Given the description of an element on the screen output the (x, y) to click on. 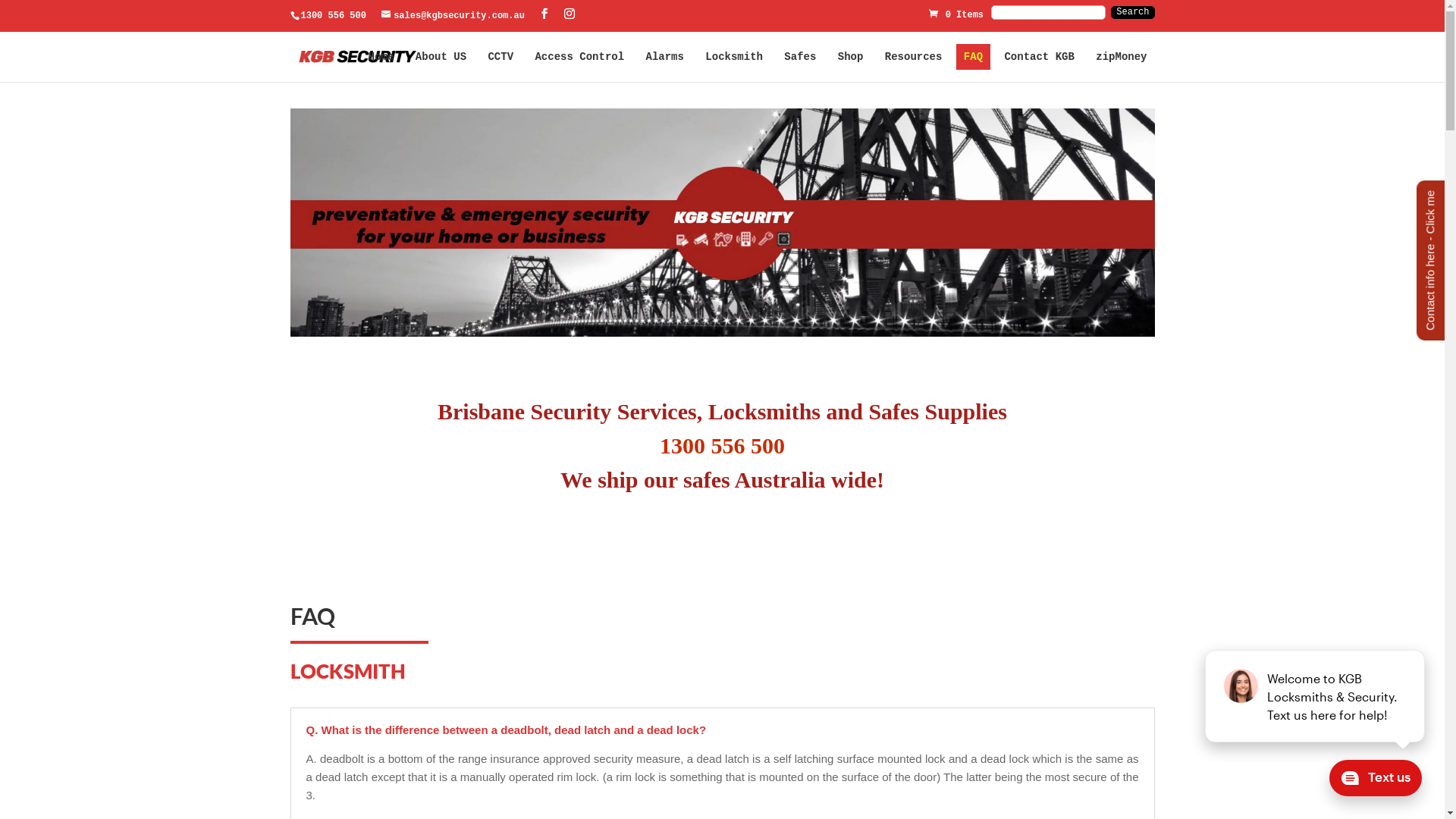
1300 556 500 Element type: text (721, 445)
Alarms Element type: text (664, 56)
FAQ Element type: text (973, 56)
1300 556 500 Element type: text (332, 15)
0 Items Element type: text (955, 14)
zipMoney Element type: text (1121, 56)
CCTV Element type: text (500, 56)
sales@kgbsecurity.com.au Element type: text (452, 15)
Access Control Element type: text (579, 56)
Home Element type: text (380, 56)
Contact KGB Element type: text (1038, 56)
Shop Element type: text (850, 56)
Locksmith Element type: text (733, 56)
podium webchat widget prompt Element type: hover (1315, 696)
Resources Element type: text (913, 56)
About US Element type: text (440, 56)
Search Element type: text (1132, 12)
Safes Element type: text (799, 56)
